Given the description of an element on the screen output the (x, y) to click on. 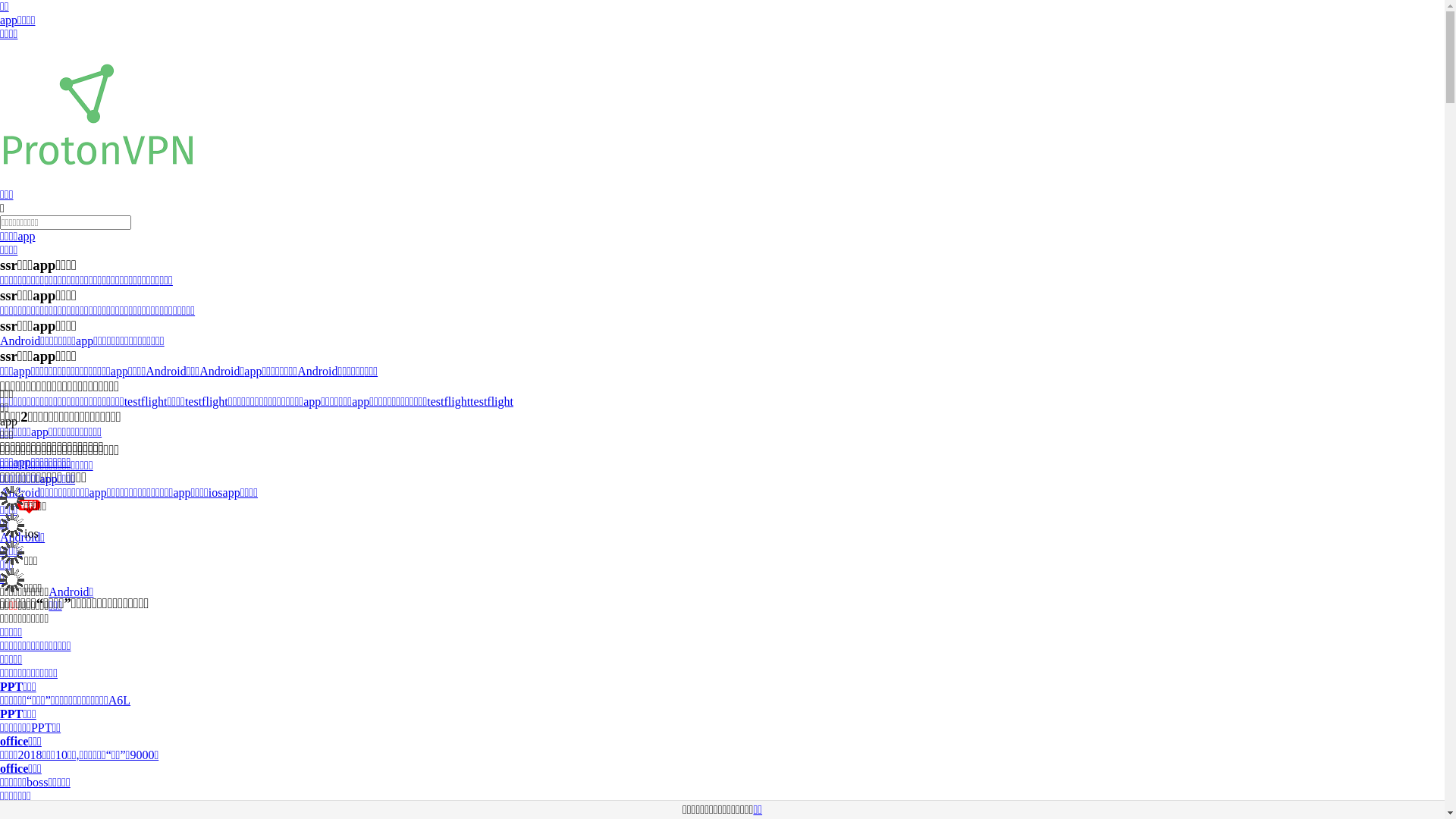
testflight Element type: text (145, 401)
testflight Element type: text (206, 401)
ios Element type: text (215, 492)
testflight Element type: text (491, 401)
testflight Element type: text (448, 401)
